Given the description of an element on the screen output the (x, y) to click on. 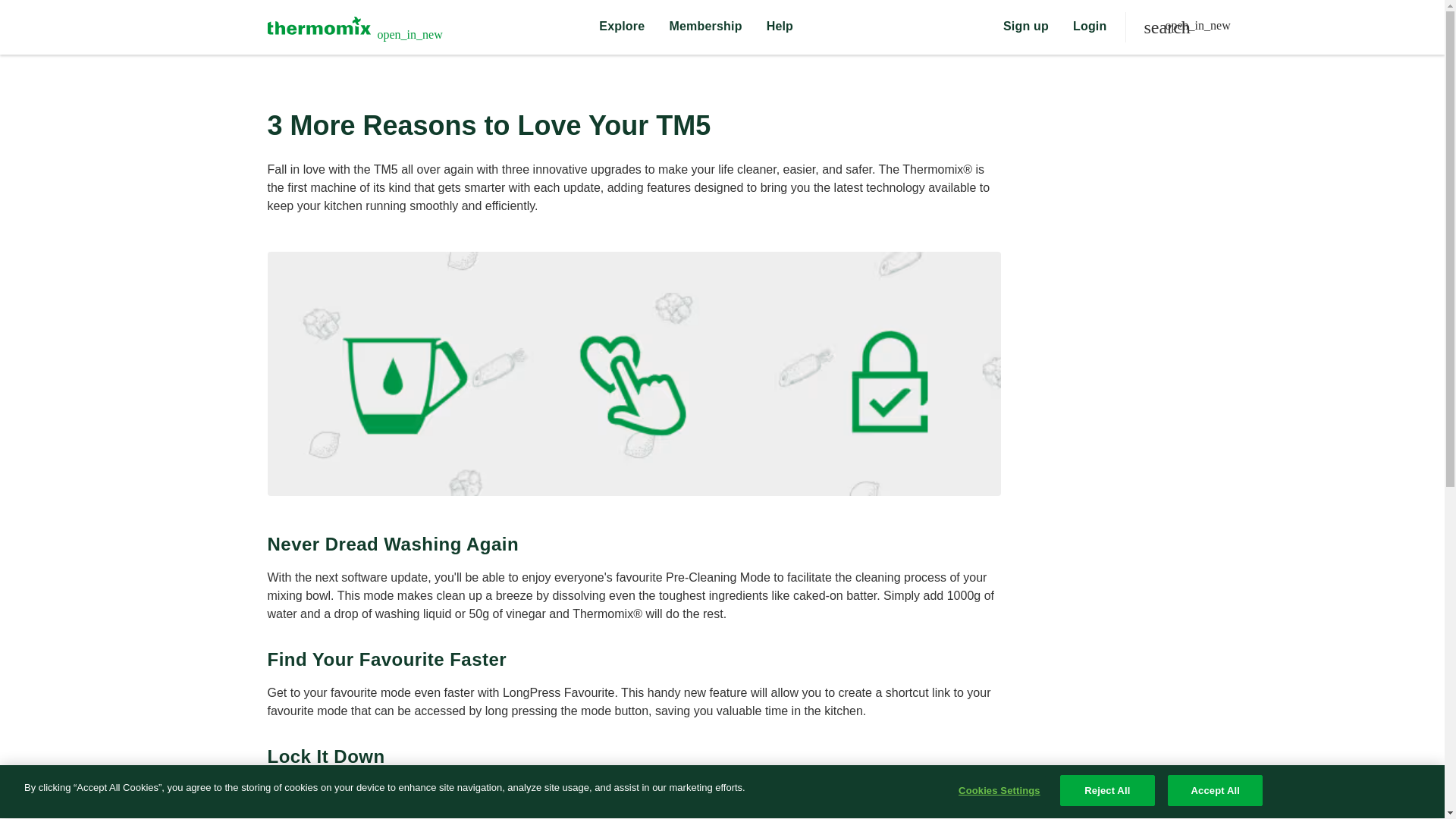
Explore (621, 27)
Sign up (1025, 27)
Help (780, 27)
Login (1089, 27)
Membership (704, 27)
